Given the description of an element on the screen output the (x, y) to click on. 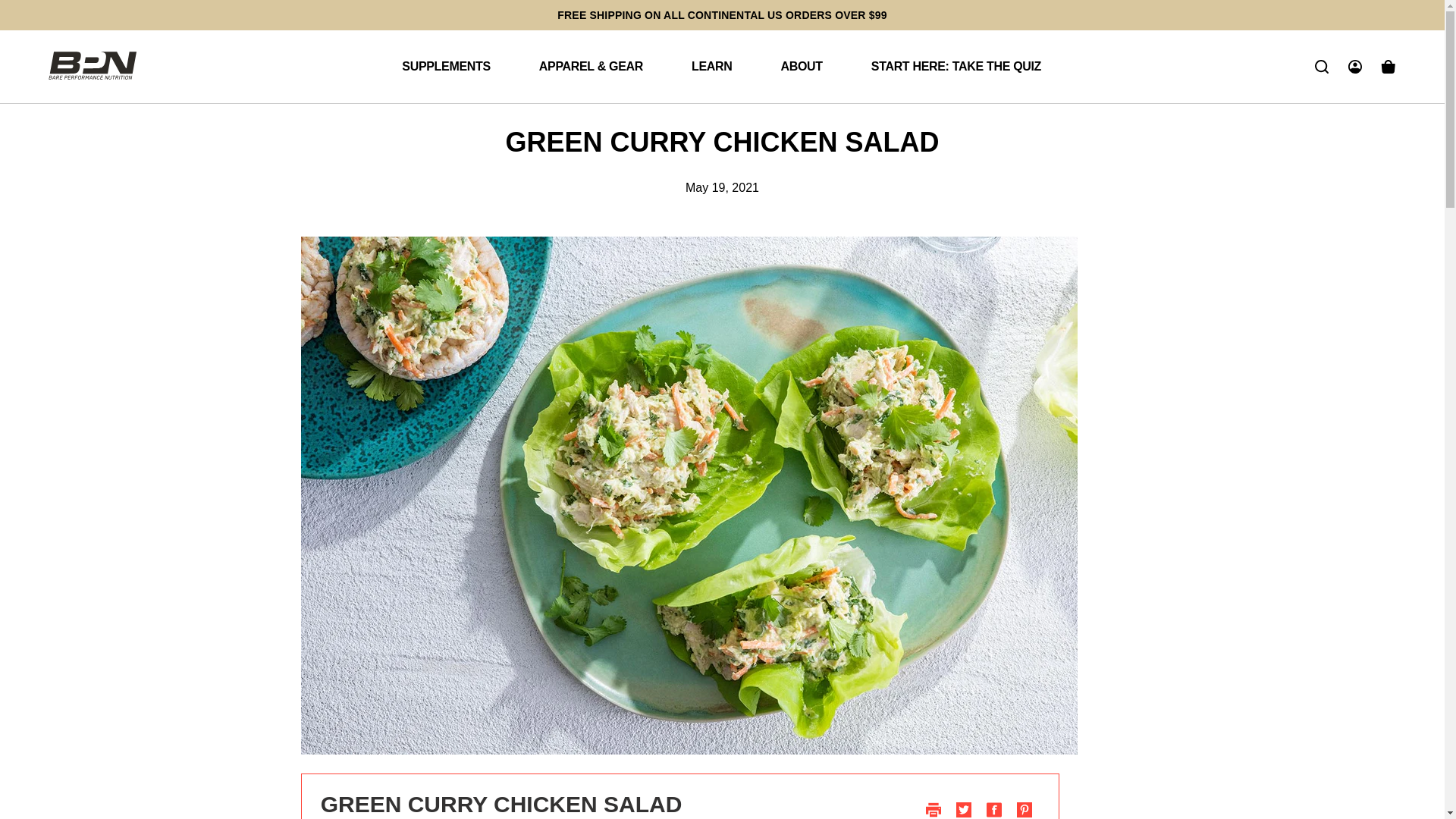
Open searchbar (1321, 66)
BPN logo (92, 65)
bareperformancenutrition logo (92, 64)
Open cart drawer (1388, 66)
